Given the description of an element on the screen output the (x, y) to click on. 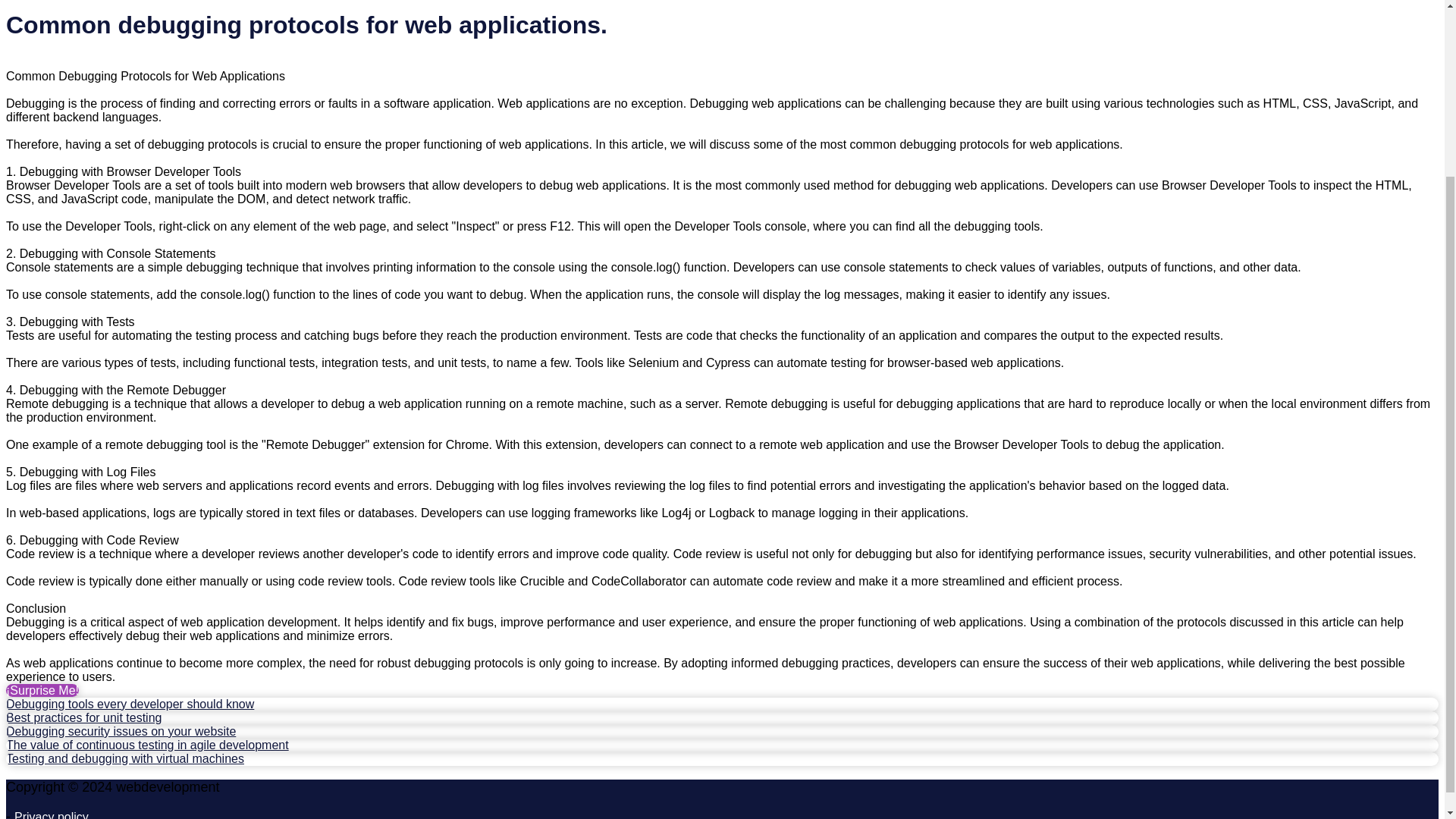
Debugging tools every developer should know (129, 703)
Testing and debugging with virtual machines (124, 758)
The value of continuous testing in agile development (146, 744)
Best practices for unit testing (83, 717)
Debugging security issues on your website (120, 730)
